Given the description of an element on the screen output the (x, y) to click on. 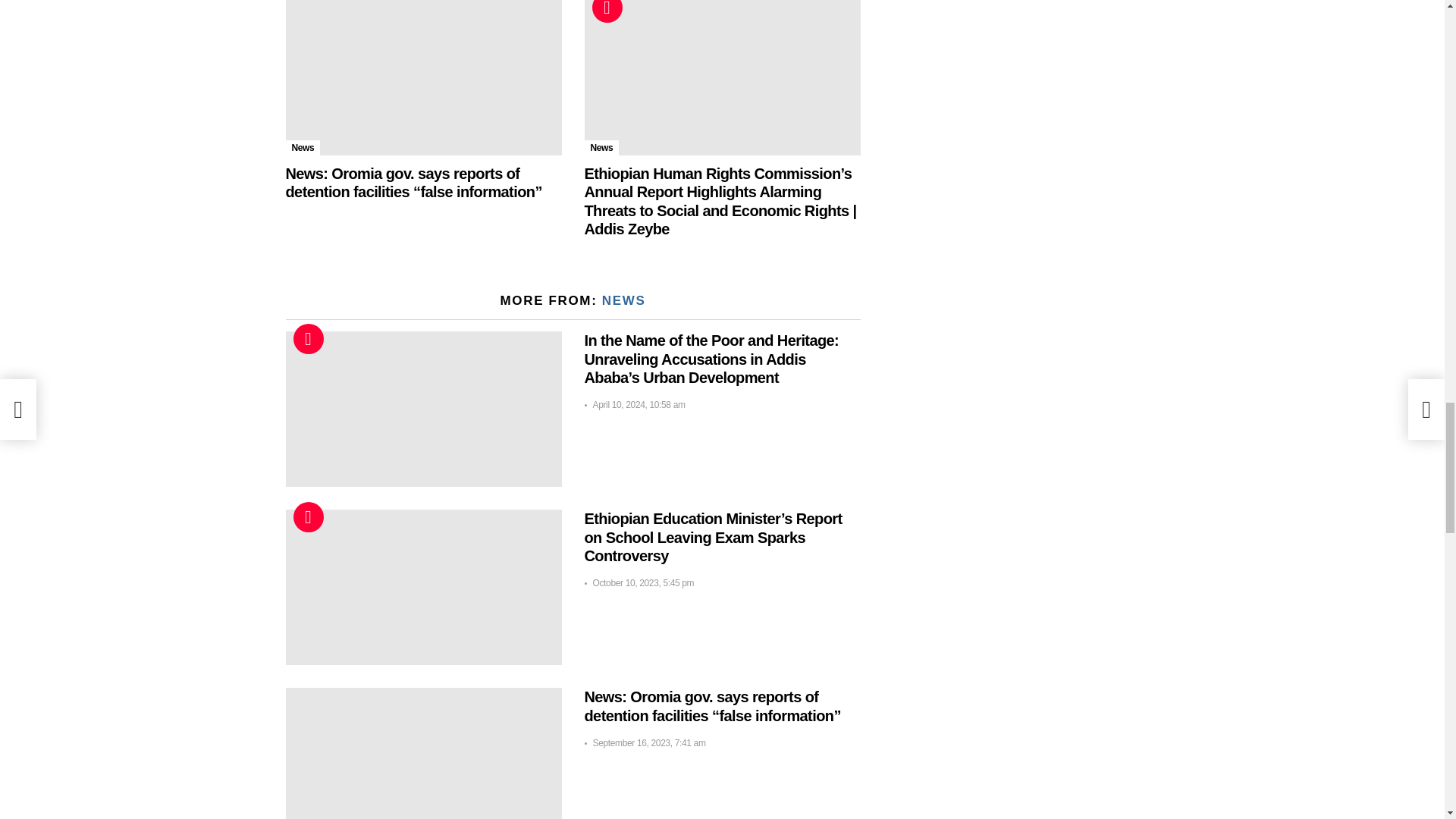
News (302, 147)
